Given the description of an element on the screen output the (x, y) to click on. 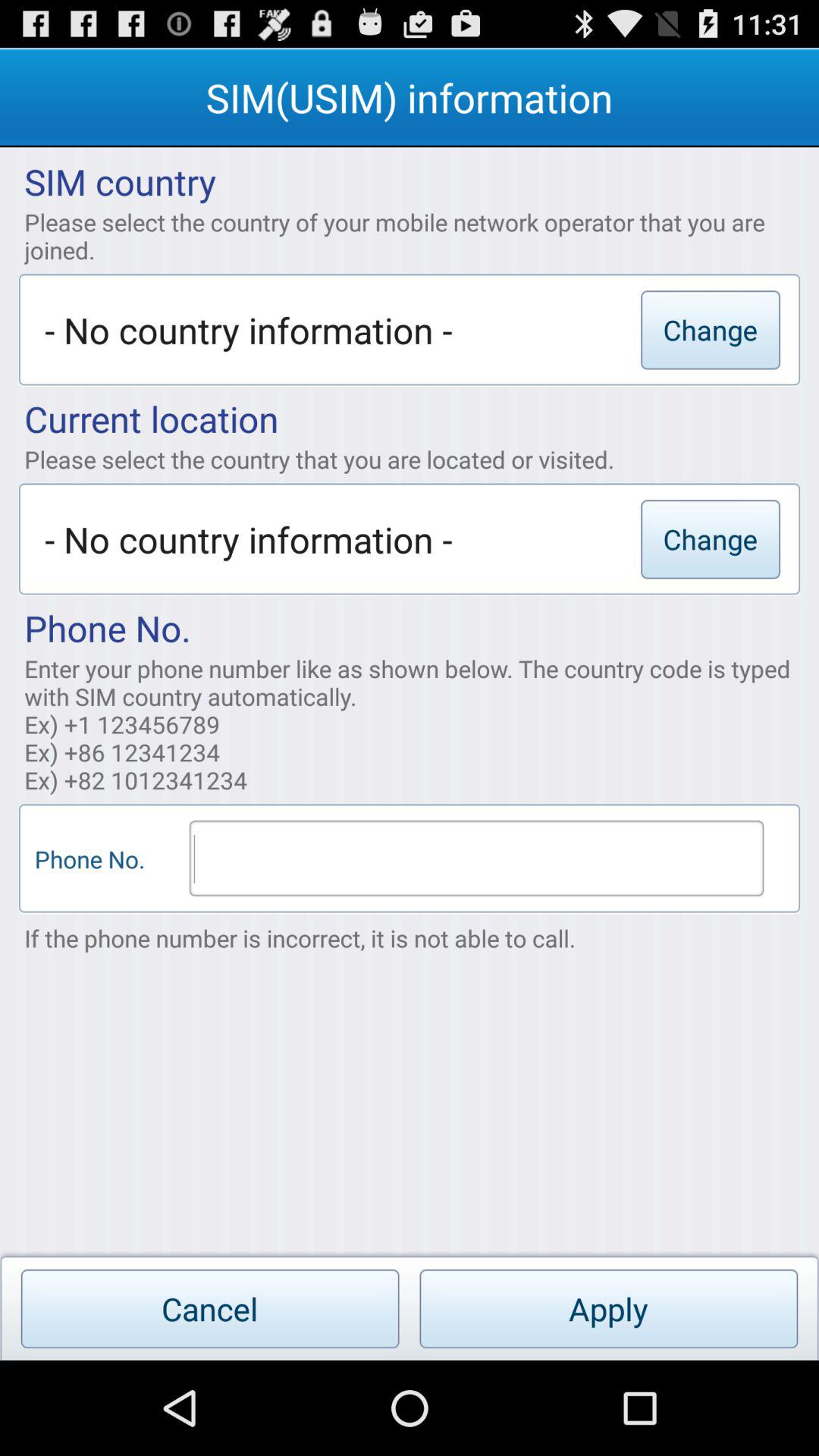
turn off icon at the bottom left corner (210, 1309)
